Given the description of an element on the screen output the (x, y) to click on. 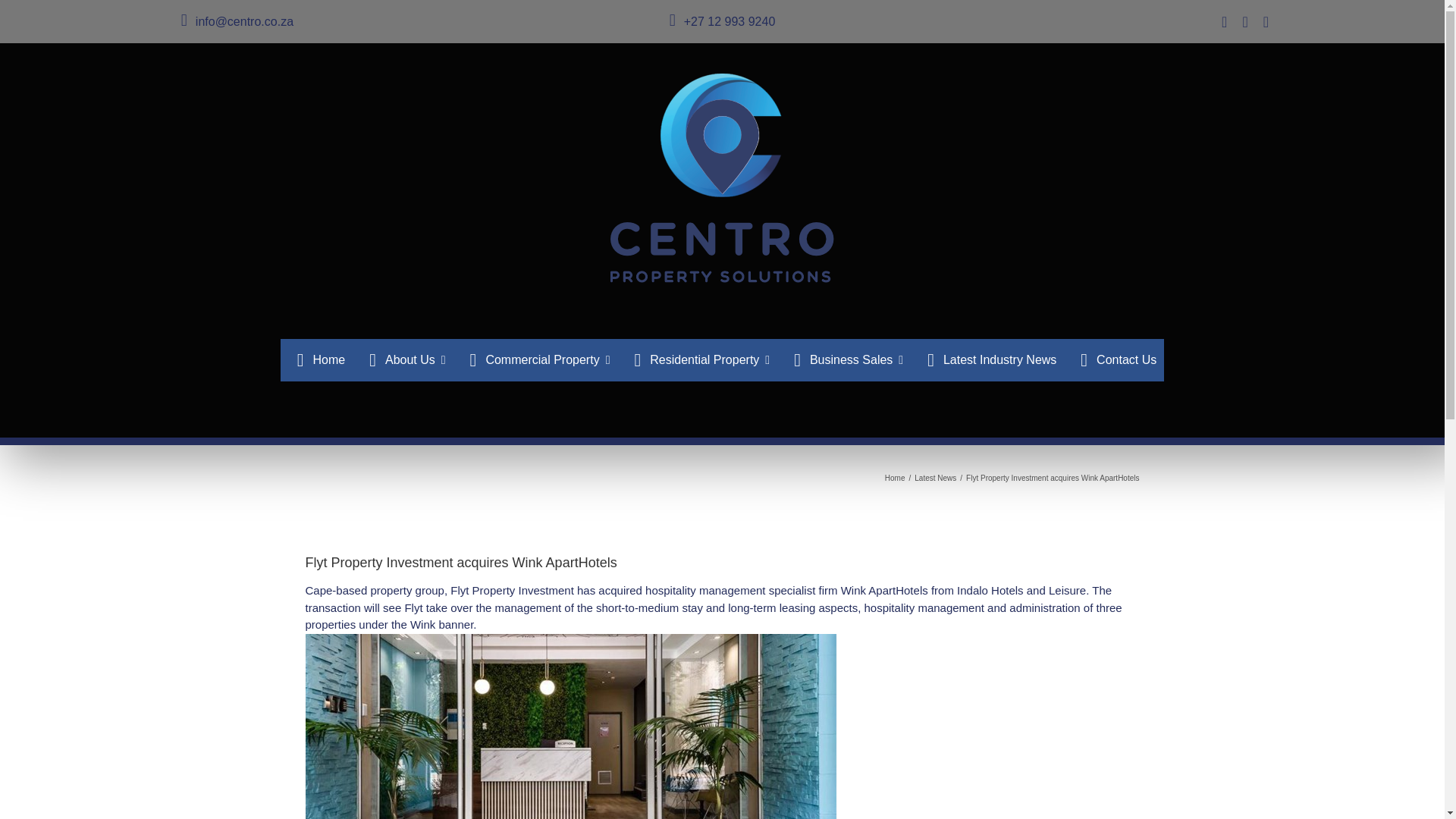
Latest Industry News (987, 360)
Contact Us (1113, 360)
Home (895, 478)
Home (316, 360)
Business Sales (844, 360)
About Us (402, 360)
Commercial Property (534, 360)
Residential Property (697, 360)
Latest News (935, 478)
